Given the description of an element on the screen output the (x, y) to click on. 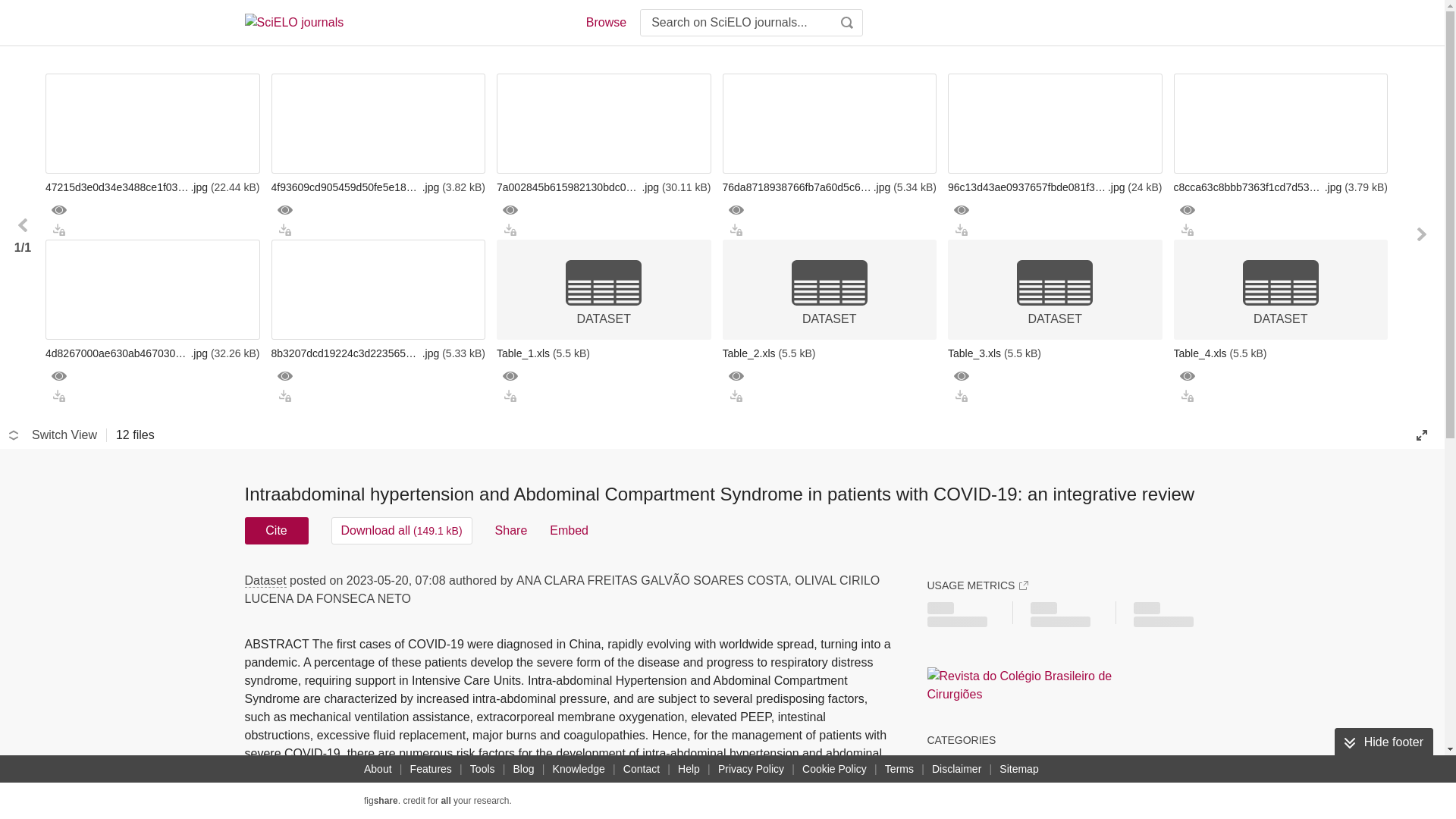
4f93609cd905459d50fe5e1873e52f0a464e0335.jpg (378, 187)
8b3207dcd19224c3d2235655abf40827a2ae897f.jpg (378, 352)
Browse (605, 22)
c8cca63c8bbb7363f1cd7d5318d97a6fcc8e3001.jpg (1281, 187)
4d8267000ae630ab467030a4994621639380a977.jpg (152, 352)
76da8718938766fb7a60d5c6e96a7416d3647928.jpg (829, 187)
7a002845b615982130bdc0a1ad3a3d43d7cbeb93.jpg (603, 187)
47215d3e0d34e3488ce1f03e80087170ceb1fa56.jpg (152, 187)
96c13d43ae0937657fbde081f3af0c55fe1196be.jpg (1054, 187)
